Given the description of an element on the screen output the (x, y) to click on. 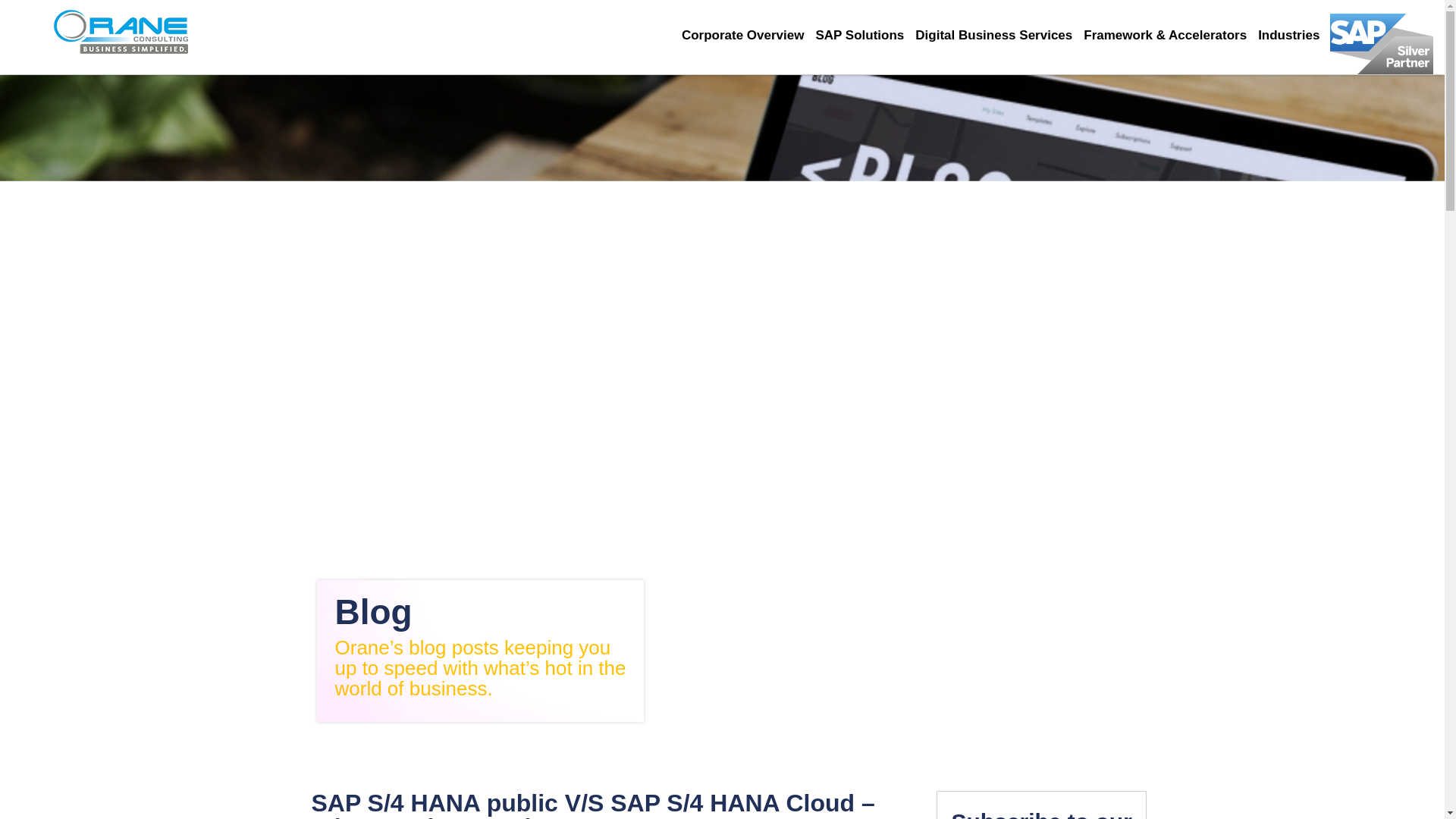
Corporate Overview (748, 35)
SAP Solutions (865, 35)
Industries (1293, 35)
Digital Business Services (999, 35)
